Given the description of an element on the screen output the (x, y) to click on. 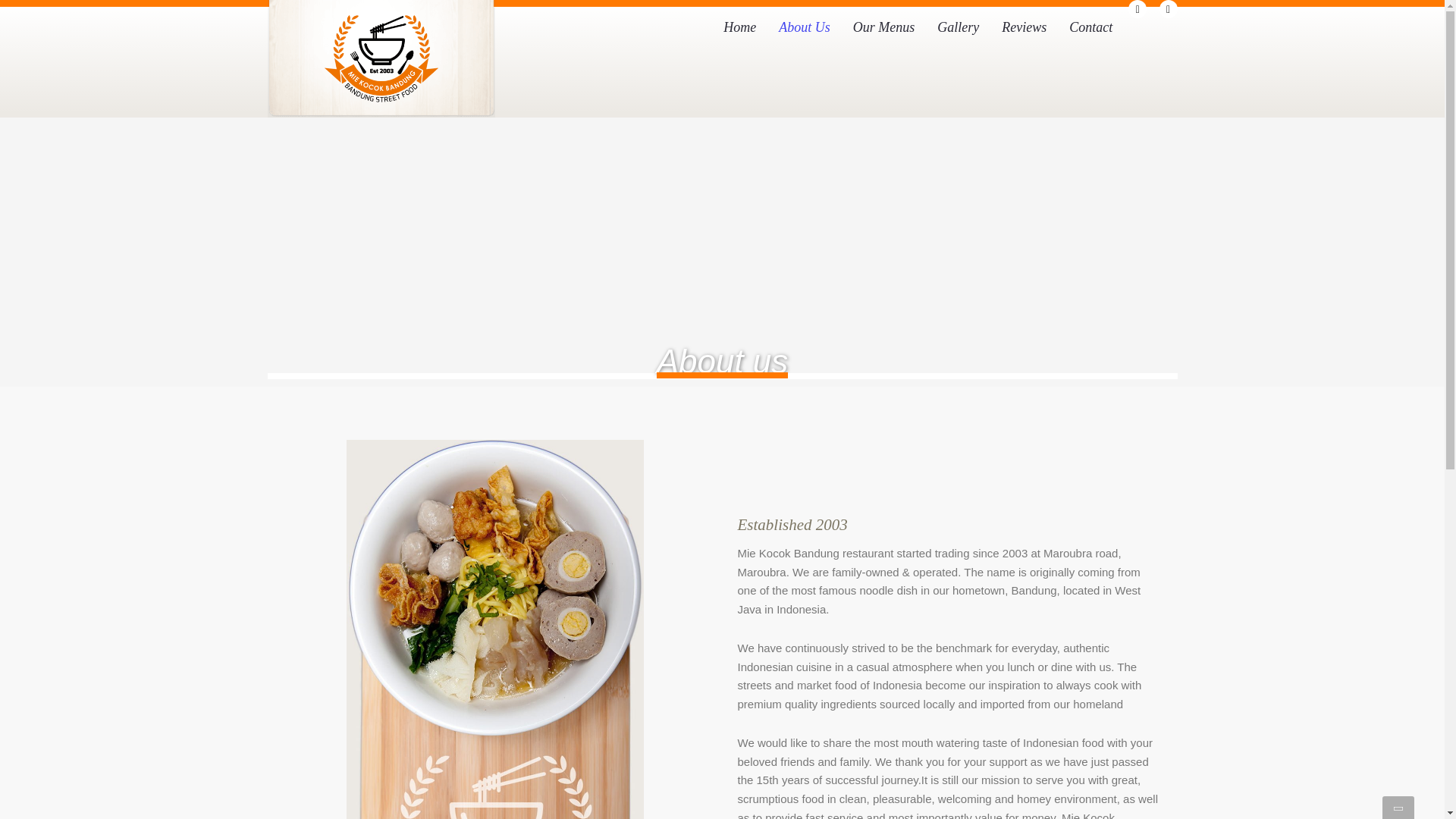
Instagram (1167, 9)
Our Menus (883, 27)
Facebook (1137, 9)
Home (739, 27)
Mie Kocok Bandung (380, 58)
Gallery (958, 27)
About Us (804, 27)
Contact (1091, 27)
Reviews (1024, 27)
